Given the description of an element on the screen output the (x, y) to click on. 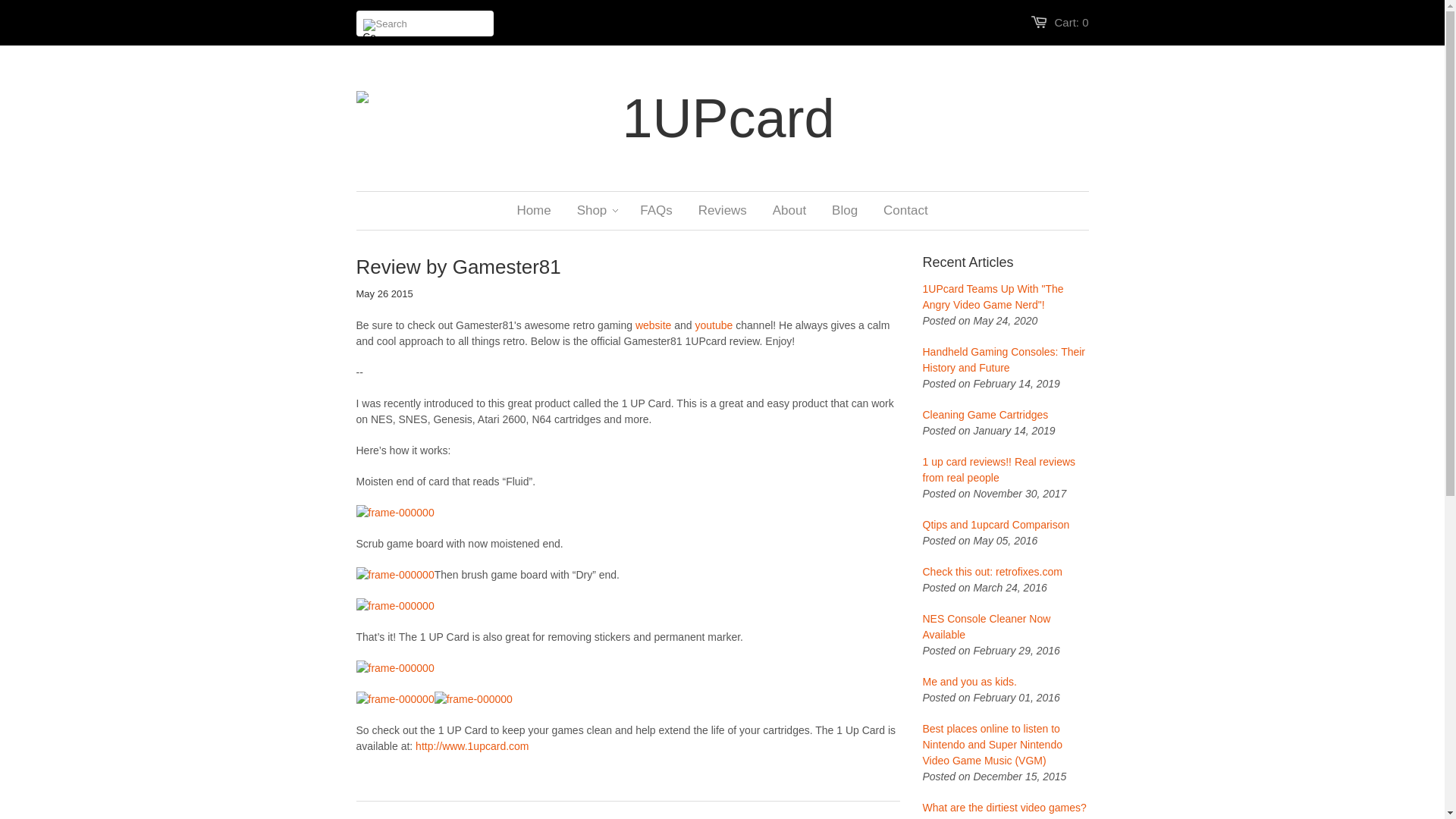
Blog Element type: text (844, 210)
website Element type: text (653, 325)
FAQs Element type: text (656, 210)
Qtips and 1upcard Comparison Element type: text (1005, 525)
Me and you as kids. Element type: text (1005, 682)
Reviews Element type: text (722, 210)
1UPcard Teams Up With "The Angry Video Game Nerd"! Element type: text (1005, 297)
Home Element type: text (533, 210)
youtube Element type: text (714, 325)
Cleaning Game Cartridges Element type: text (1005, 415)
NES Console Cleaner Now Available Element type: text (1005, 627)
1 up card reviews!! Real reviews from real people Element type: text (1005, 470)
Cart: 0 Element type: text (1071, 21)
Handheld Gaming Consoles: Their History and Future Element type: text (1005, 360)
Shop Element type: text (591, 210)
About Element type: text (789, 210)
http://www.1upcard.com Element type: text (471, 746)
Contact Element type: text (905, 210)
Check this out: retrofixes.com Element type: text (1005, 572)
